Given the description of an element on the screen output the (x, y) to click on. 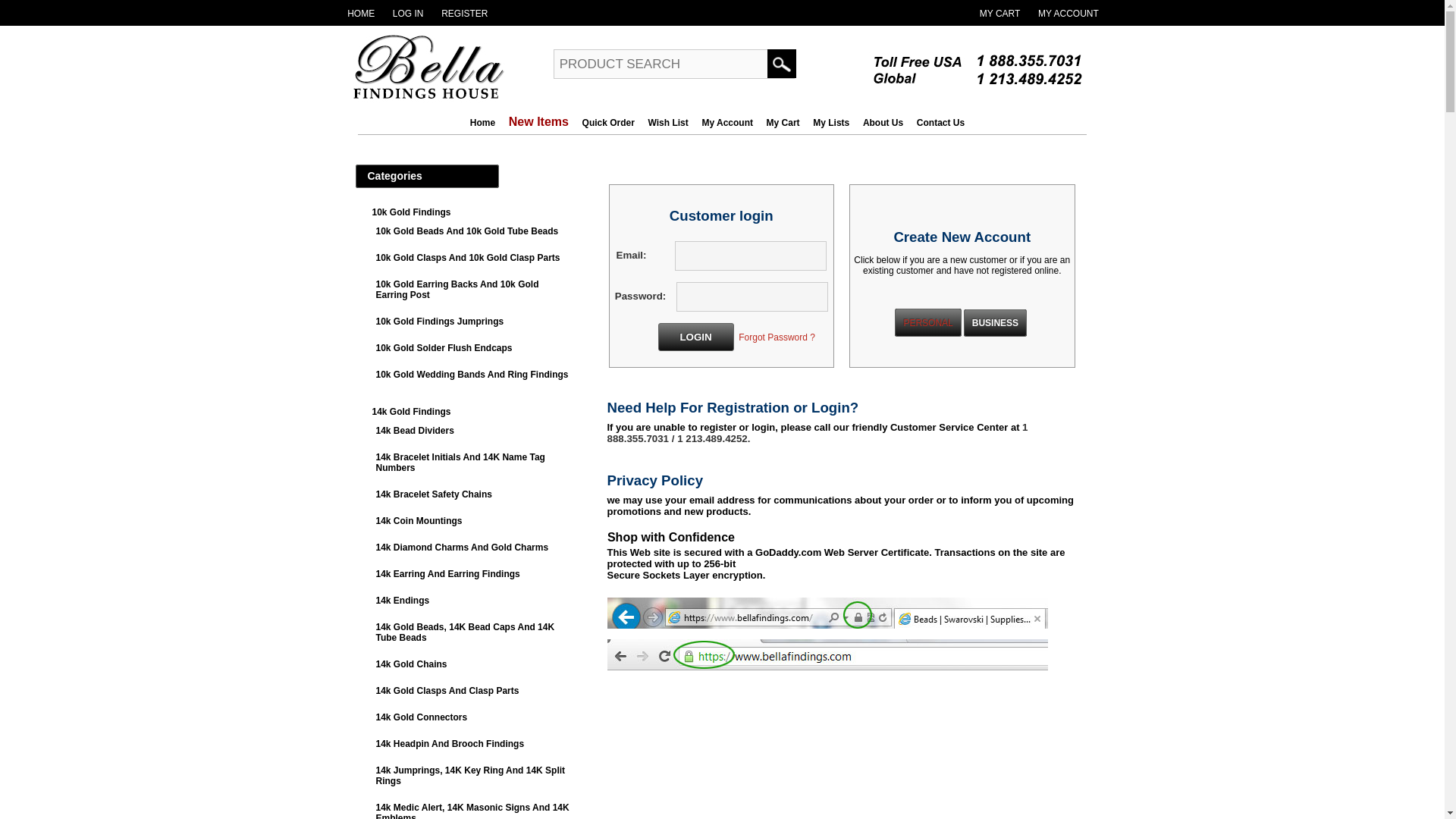
LOGIN (695, 336)
My Cart (999, 12)
HOME (360, 12)
HOME (360, 12)
14k Headpin And Brooch Findings (449, 743)
Contact Us (940, 122)
My Account (726, 122)
14k Medic Alert, 14K Masonic Signs And 14K Emblems (472, 810)
14k Earring And Earring Findings (447, 573)
10k-gold-findings-jumprings (439, 321)
